Given the description of an element on the screen output the (x, y) to click on. 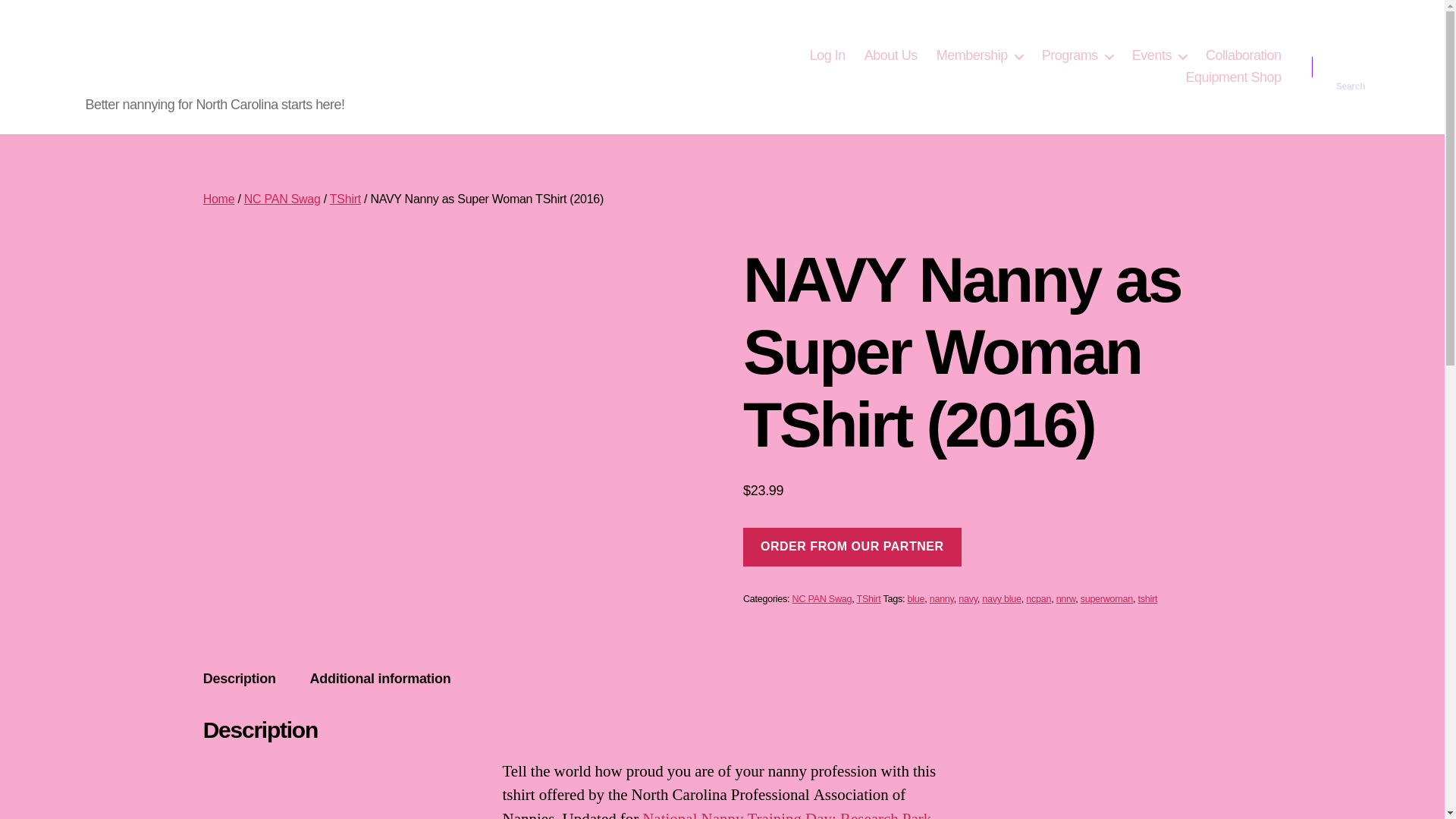
Programs (1077, 55)
Log In (827, 55)
Membership (979, 55)
Equipment Shop (1233, 77)
Collaboration (1243, 55)
Events (1159, 55)
Search (1350, 66)
About Us (890, 55)
